Given the description of an element on the screen output the (x, y) to click on. 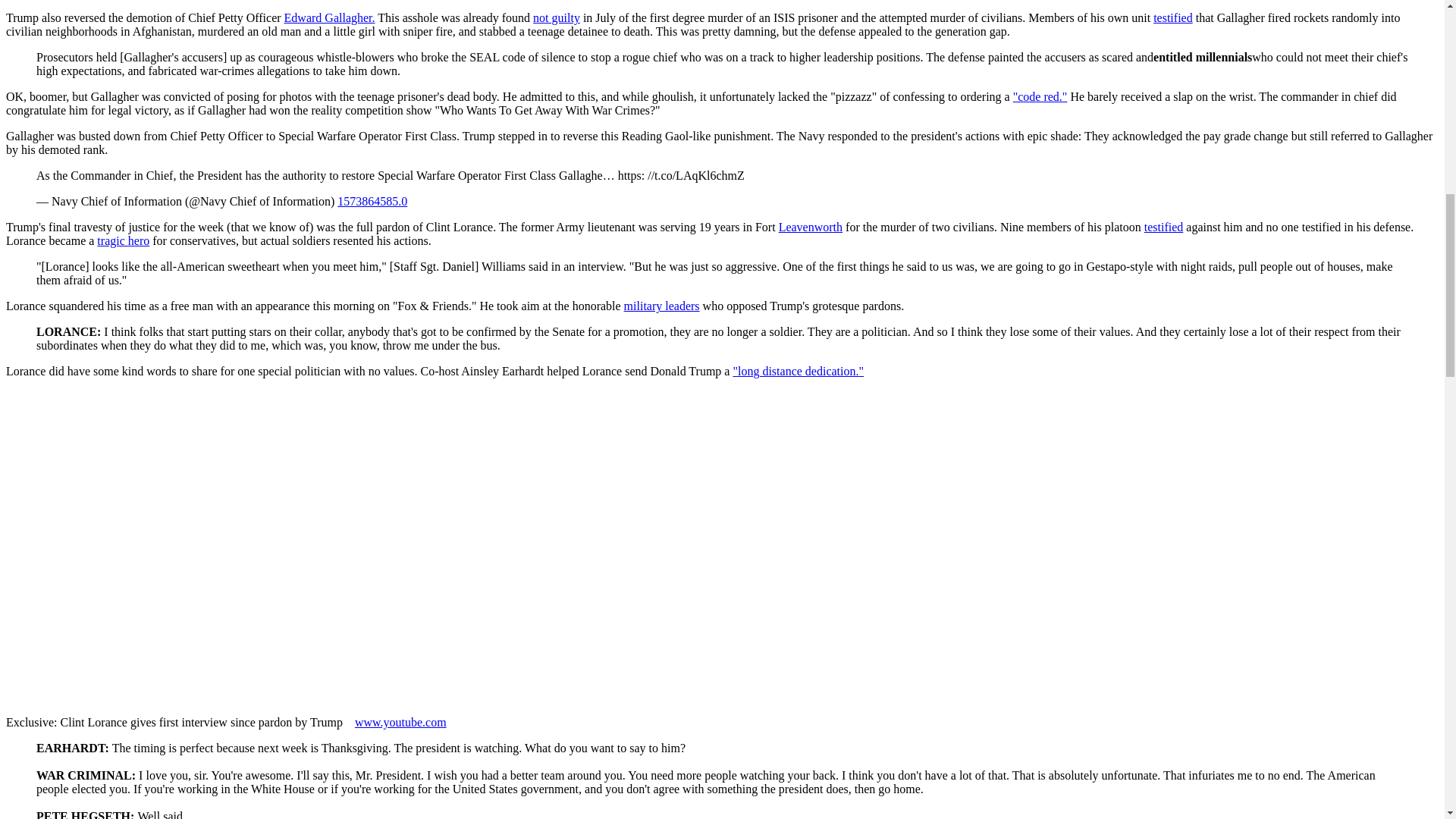
not guilty (555, 17)
military leaders (662, 305)
tragic hero (123, 240)
www.youtube.com (400, 721)
1573864585.0 (372, 201)
Edward Gallagher. (329, 17)
"long distance dedication." (797, 370)
"code red." (1040, 96)
testified (1163, 226)
Leavenworth (810, 226)
testified (1172, 17)
